Given the description of an element on the screen output the (x, y) to click on. 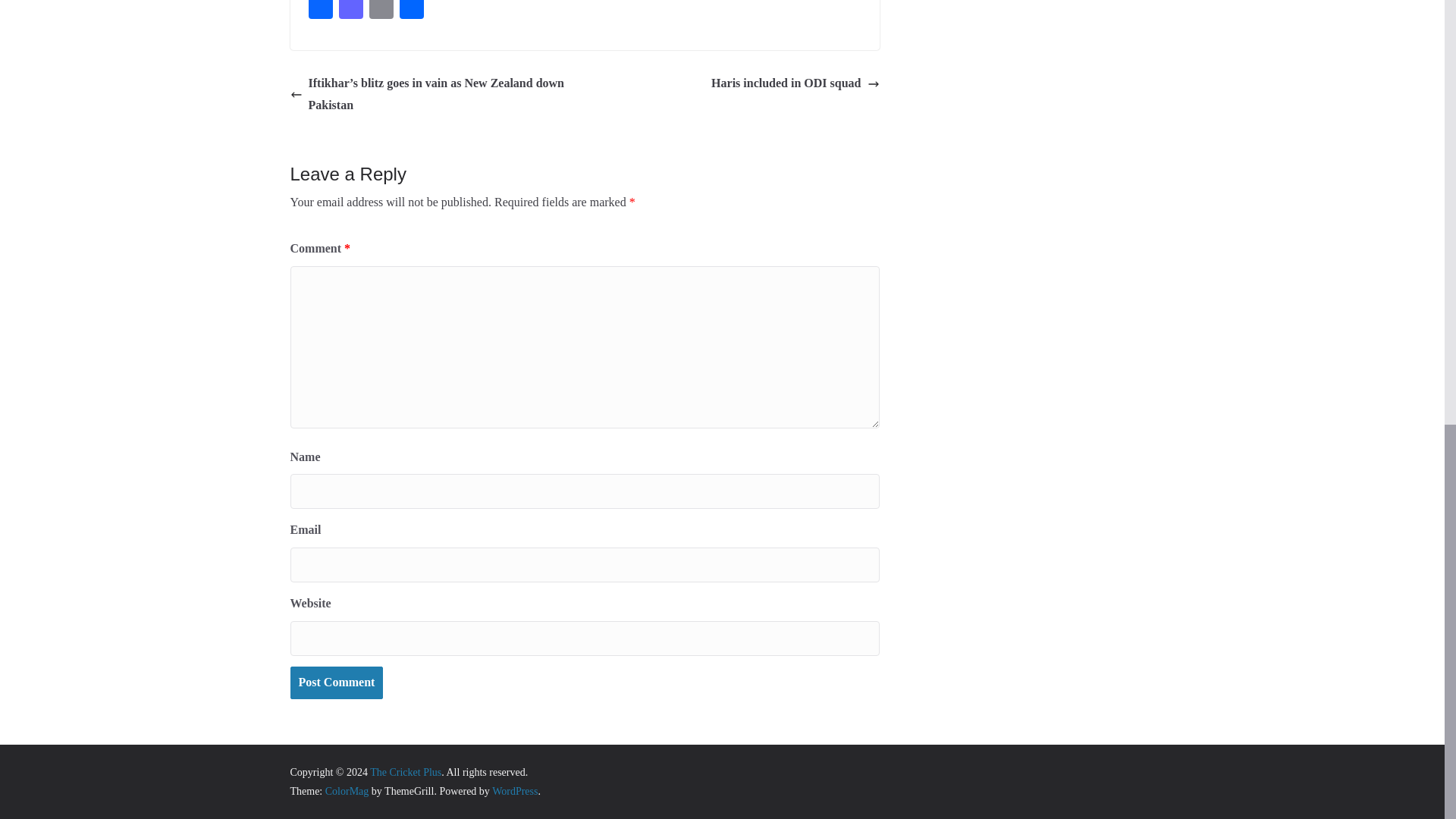
Post Comment (335, 682)
Haris included in ODI squad (795, 83)
Facebook (319, 11)
Email (380, 11)
Facebook (319, 11)
Email (380, 11)
Post Comment (335, 682)
Mastodon (349, 11)
The Cricket Plus (405, 772)
WordPress (514, 790)
The Cricket Plus (405, 772)
ColorMag (346, 790)
Share (411, 11)
Mastodon (349, 11)
WordPress (514, 790)
